Given the description of an element on the screen output the (x, y) to click on. 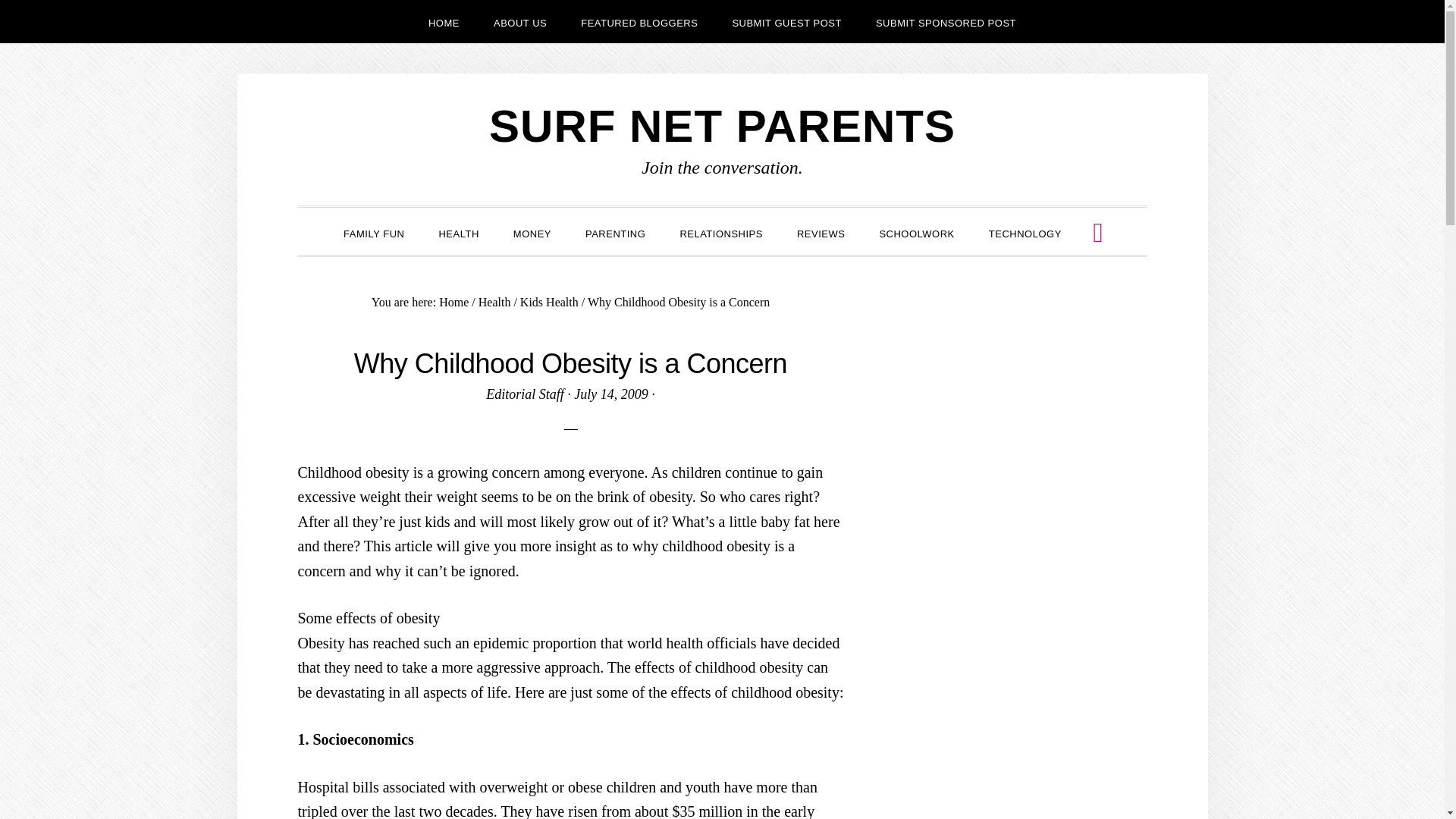
HOME (443, 21)
SURF NET PARENTS (722, 125)
ABOUT US (520, 21)
SUBMIT SPONSORED POST (945, 21)
Advertisement (1025, 388)
RELATIONSHIPS (720, 231)
FAMILY FUN (374, 231)
FEATURED BLOGGERS (639, 21)
PARENTING (615, 231)
SUBMIT GUEST POST (786, 21)
MONEY (531, 231)
HEALTH (458, 231)
